Given the description of an element on the screen output the (x, y) to click on. 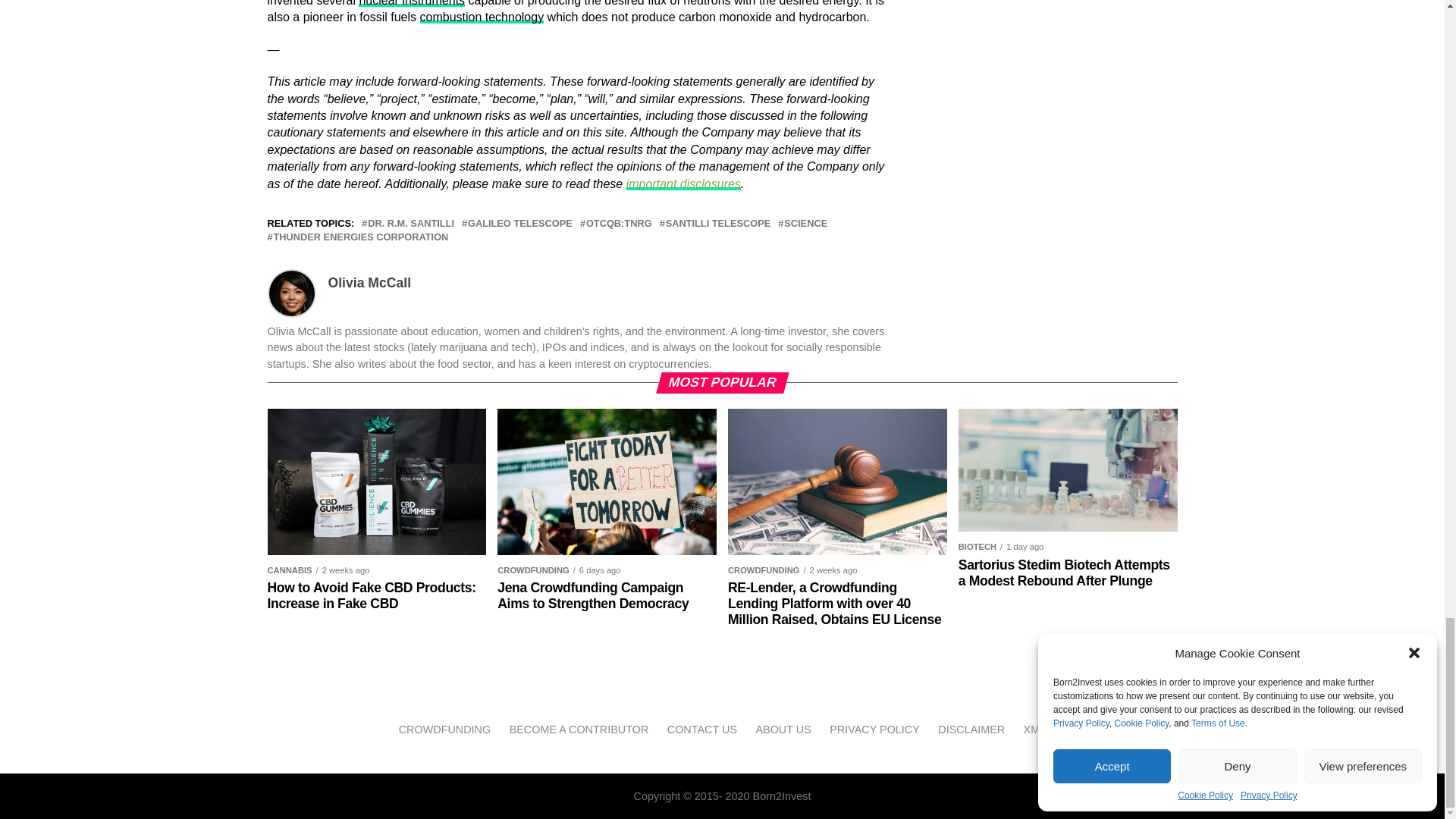
Posts by Olivia McCall (368, 282)
